Given the description of an element on the screen output the (x, y) to click on. 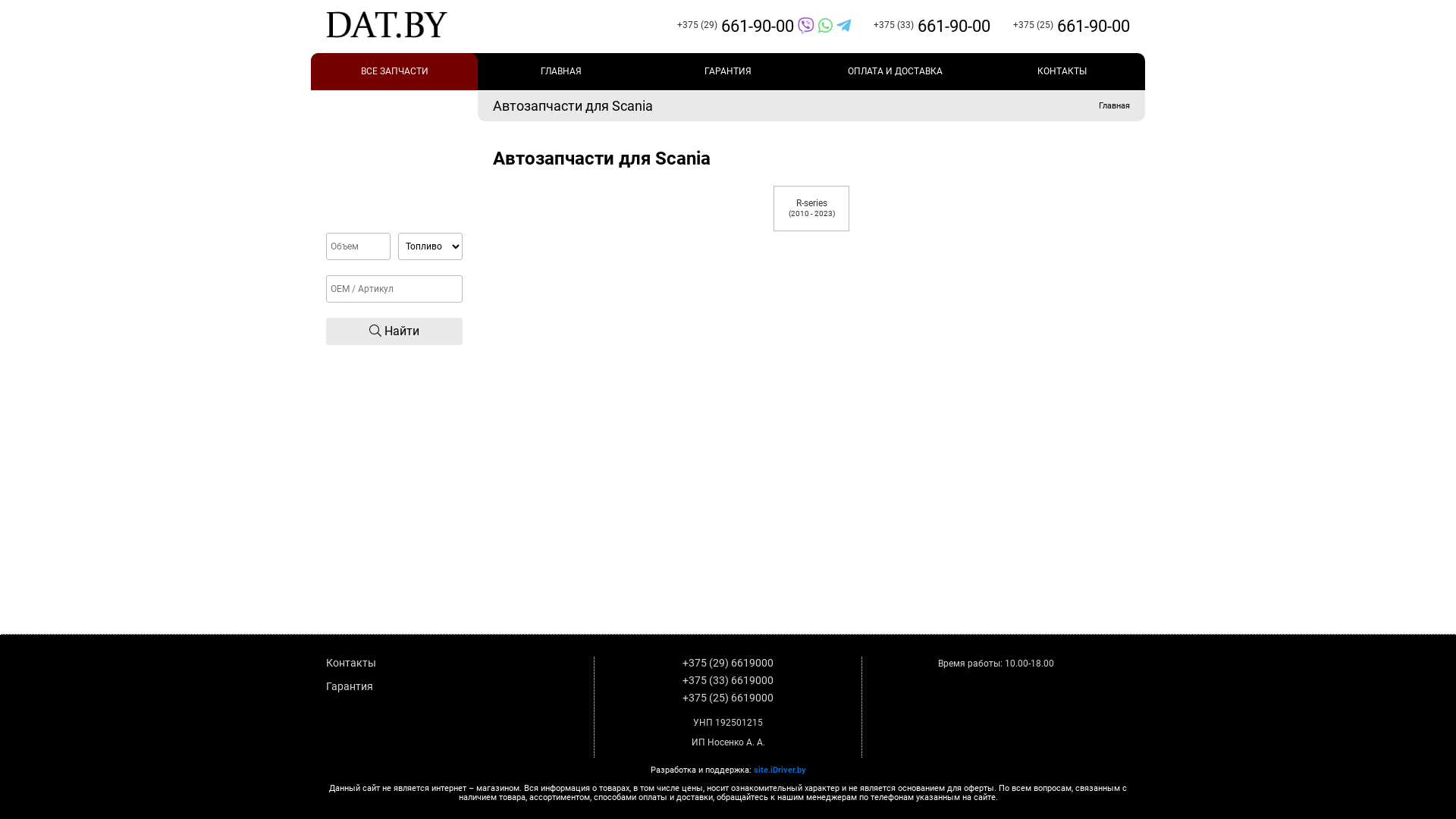
+375 (25) 6619000 Element type: text (727, 697)
+375 (33) 6619000 Element type: text (727, 680)
site.iDriver.by Element type: text (779, 770)
+375 (29)
661-90-00 Element type: text (752, 26)
+375 (33)
661-90-00 Element type: text (920, 26)
+375 (25)
661-90-00 Element type: text (1059, 26)
R-series
(2010 - 2023) Element type: text (811, 208)
+375 (29) 6619000 Element type: text (727, 662)
